Given the description of an element on the screen output the (x, y) to click on. 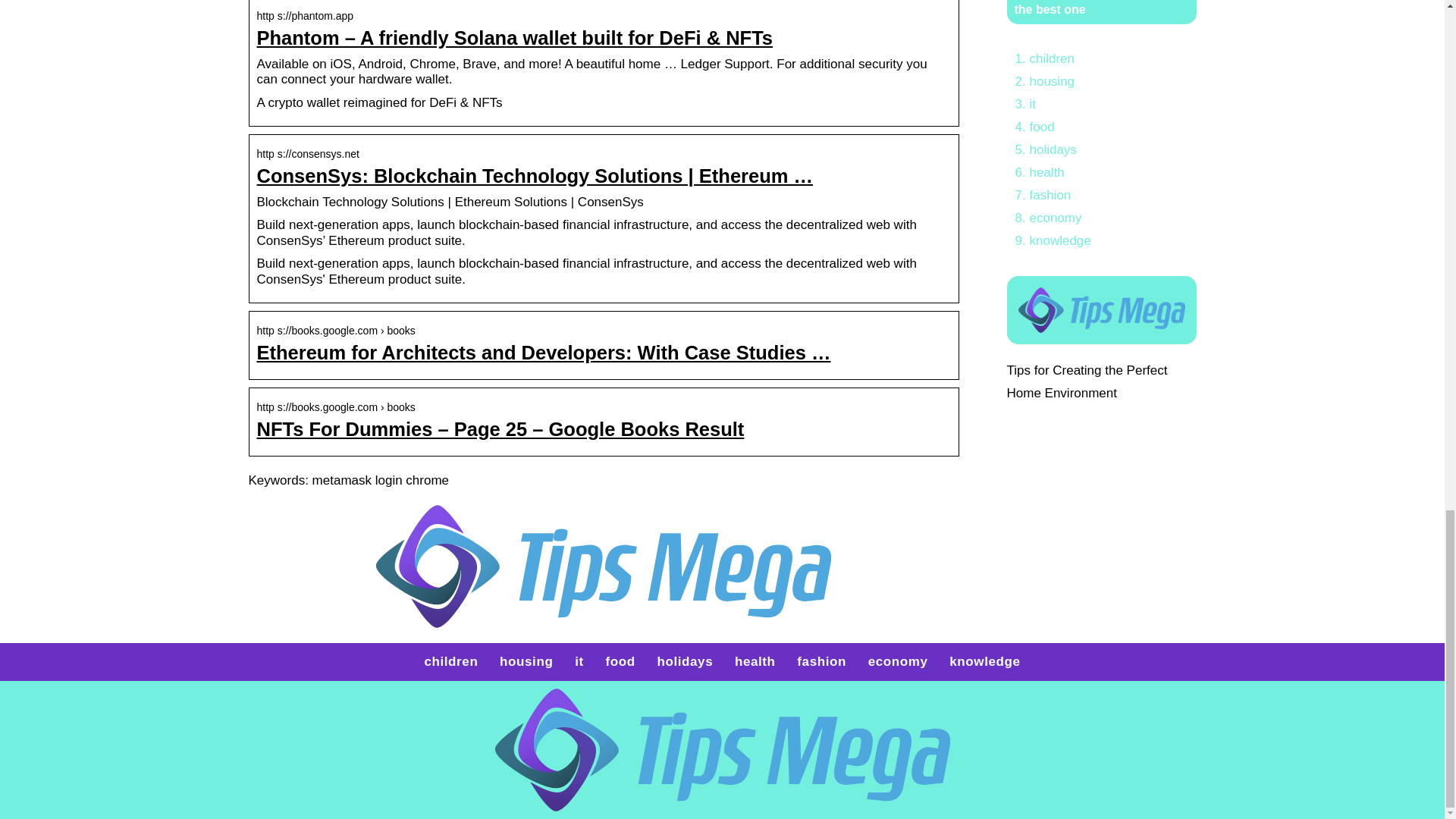
housing (526, 661)
Tips for Creating the Perfect Home Environment (1087, 381)
fashion (1050, 195)
holidays (684, 661)
children (1052, 58)
health (755, 661)
holidays (1053, 149)
food (1041, 126)
economy (897, 661)
fashion (820, 661)
